Given the description of an element on the screen output the (x, y) to click on. 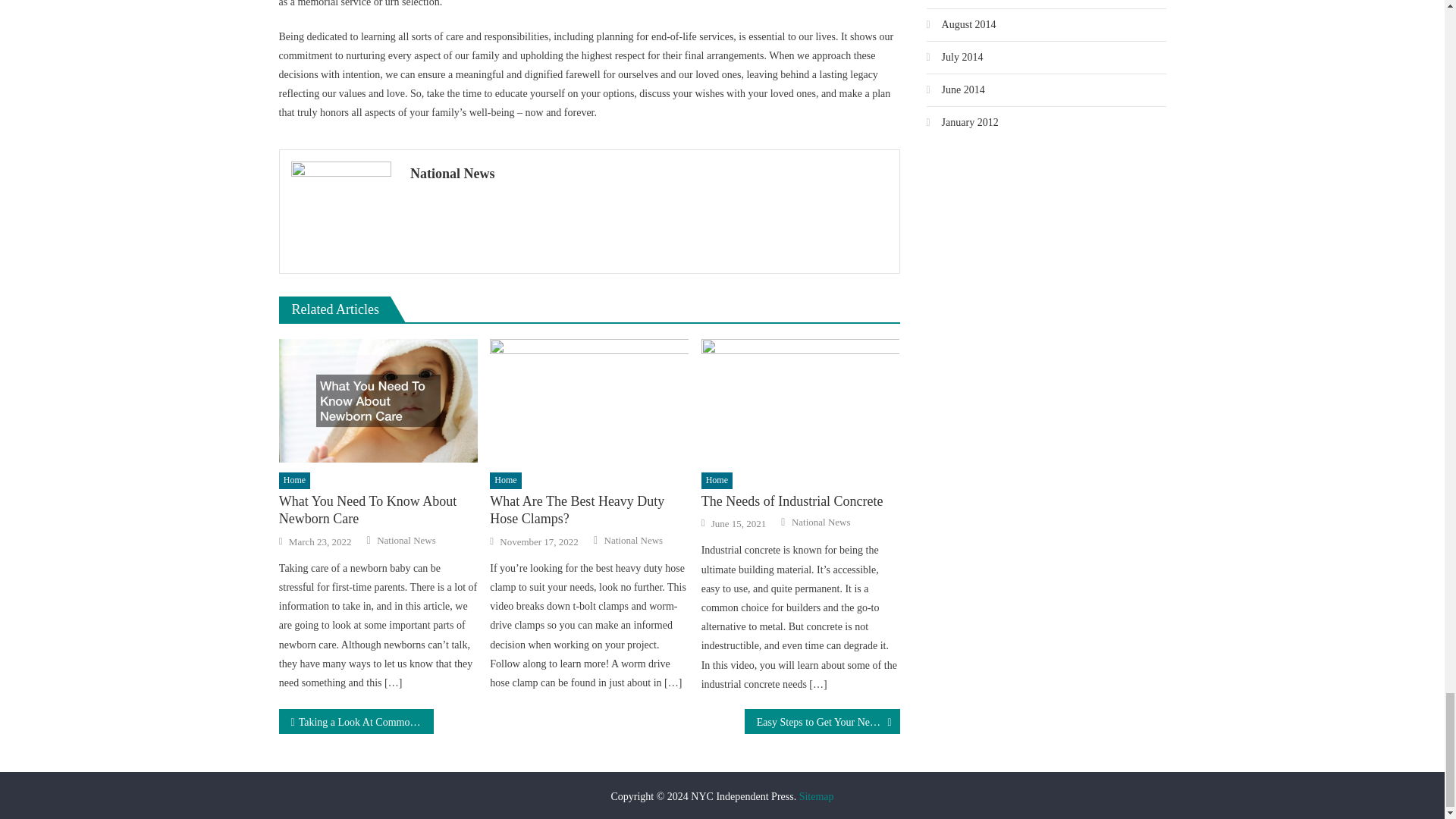
Home (716, 480)
National News (406, 540)
The Needs of Industrial Concrete (800, 401)
Home (505, 480)
National News (633, 540)
National News (649, 173)
What You Need To Know About Newborn Care (378, 401)
What Are The Best Heavy Duty Hose Clamps? (588, 510)
What Are The Best Heavy Duty Hose Clamps? (588, 401)
March 23, 2022 (320, 541)
What You Need To Know About Newborn Care (378, 510)
Home (294, 480)
November 17, 2022 (538, 541)
